Given the description of an element on the screen output the (x, y) to click on. 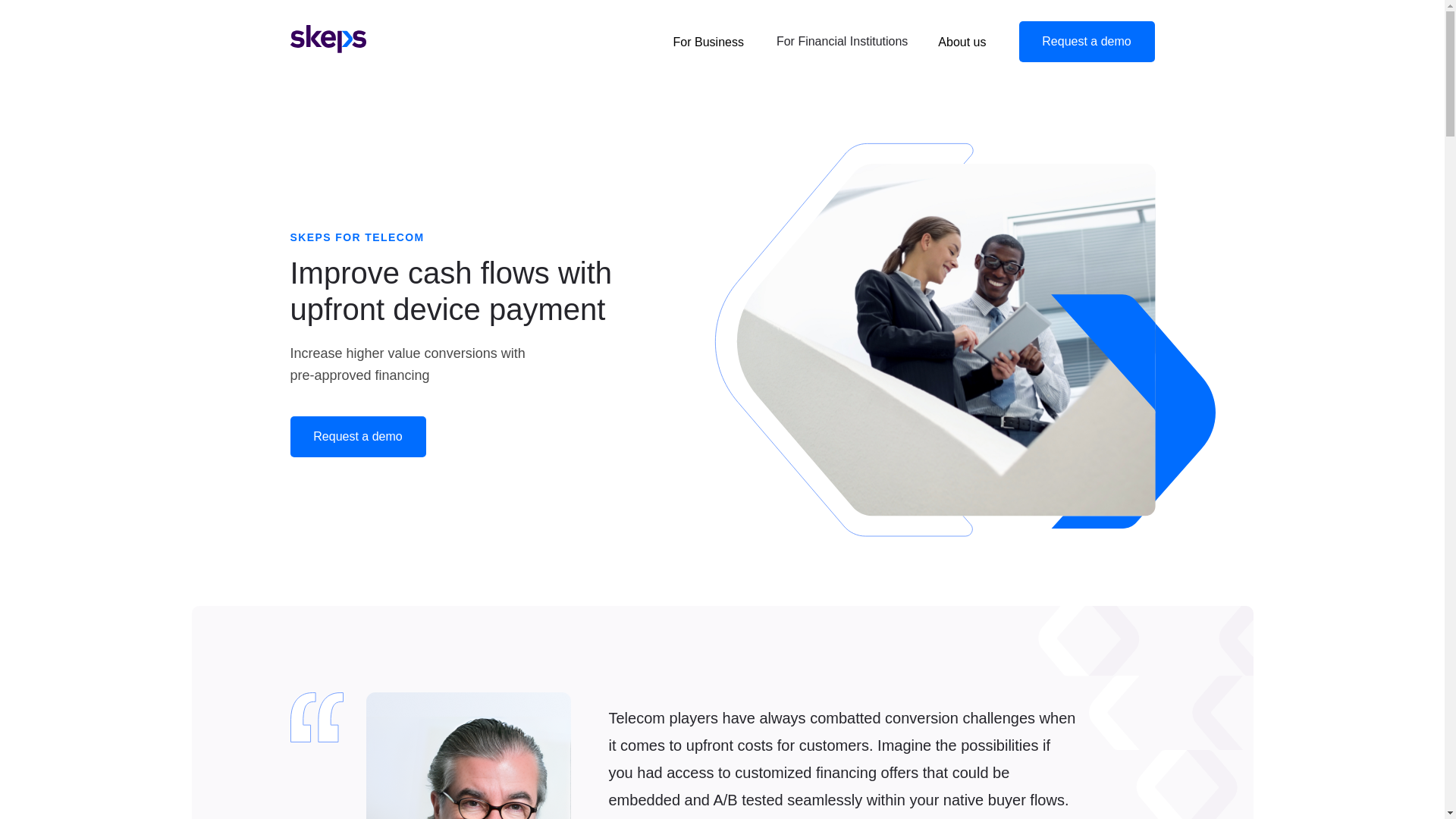
About us (961, 41)
For Financial Institutions (841, 41)
Request a demo (357, 436)
For Business (708, 41)
